Given the description of an element on the screen output the (x, y) to click on. 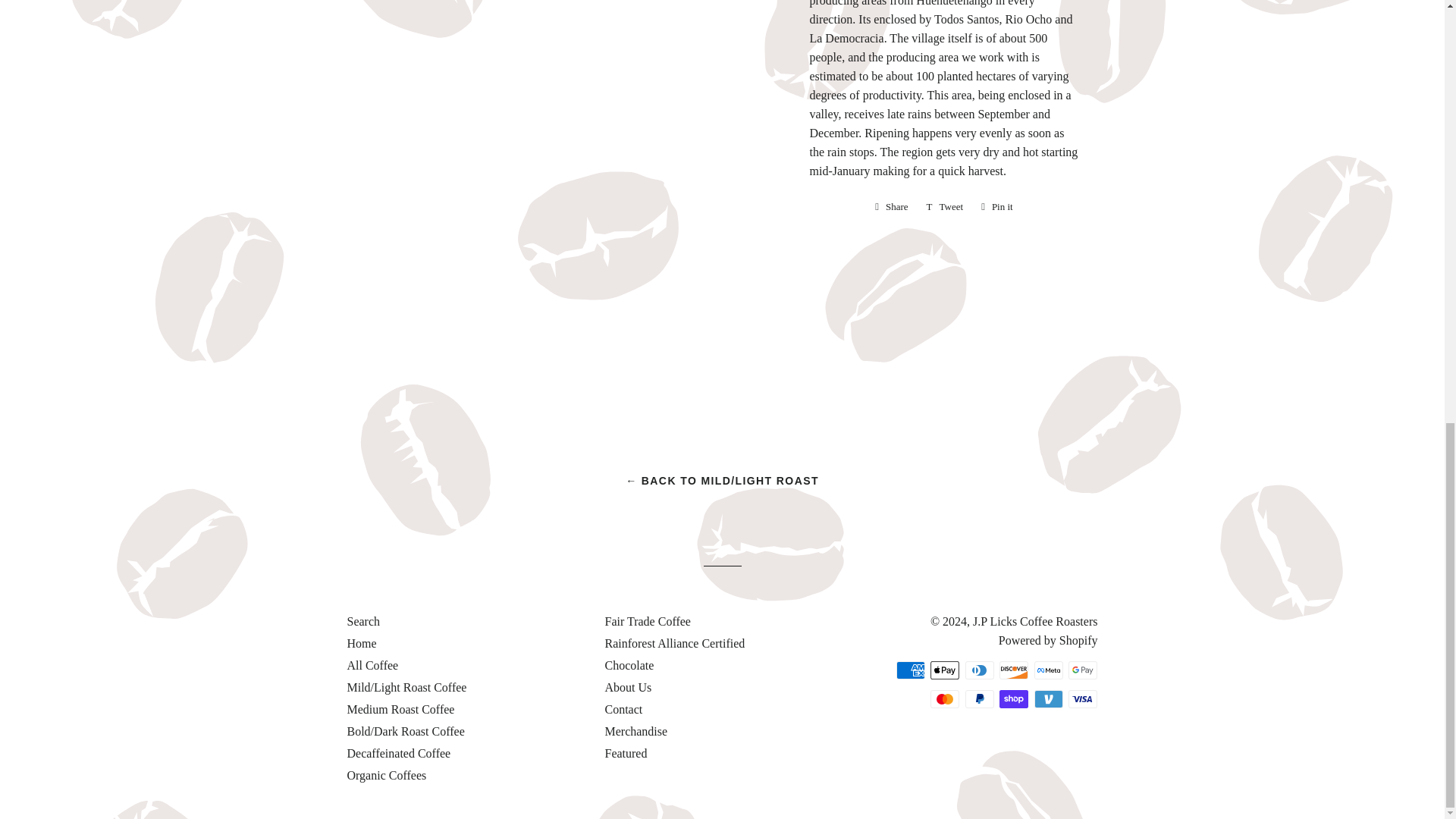
PayPal (979, 699)
Venmo (1047, 699)
Share on Facebook (891, 206)
Google Pay (1082, 669)
Shop Pay (1012, 699)
Discover (1012, 669)
Diners Club (979, 669)
American Express (910, 669)
Tweet on Twitter (944, 206)
Pin on Pinterest (997, 206)
